Given the description of an element on the screen output the (x, y) to click on. 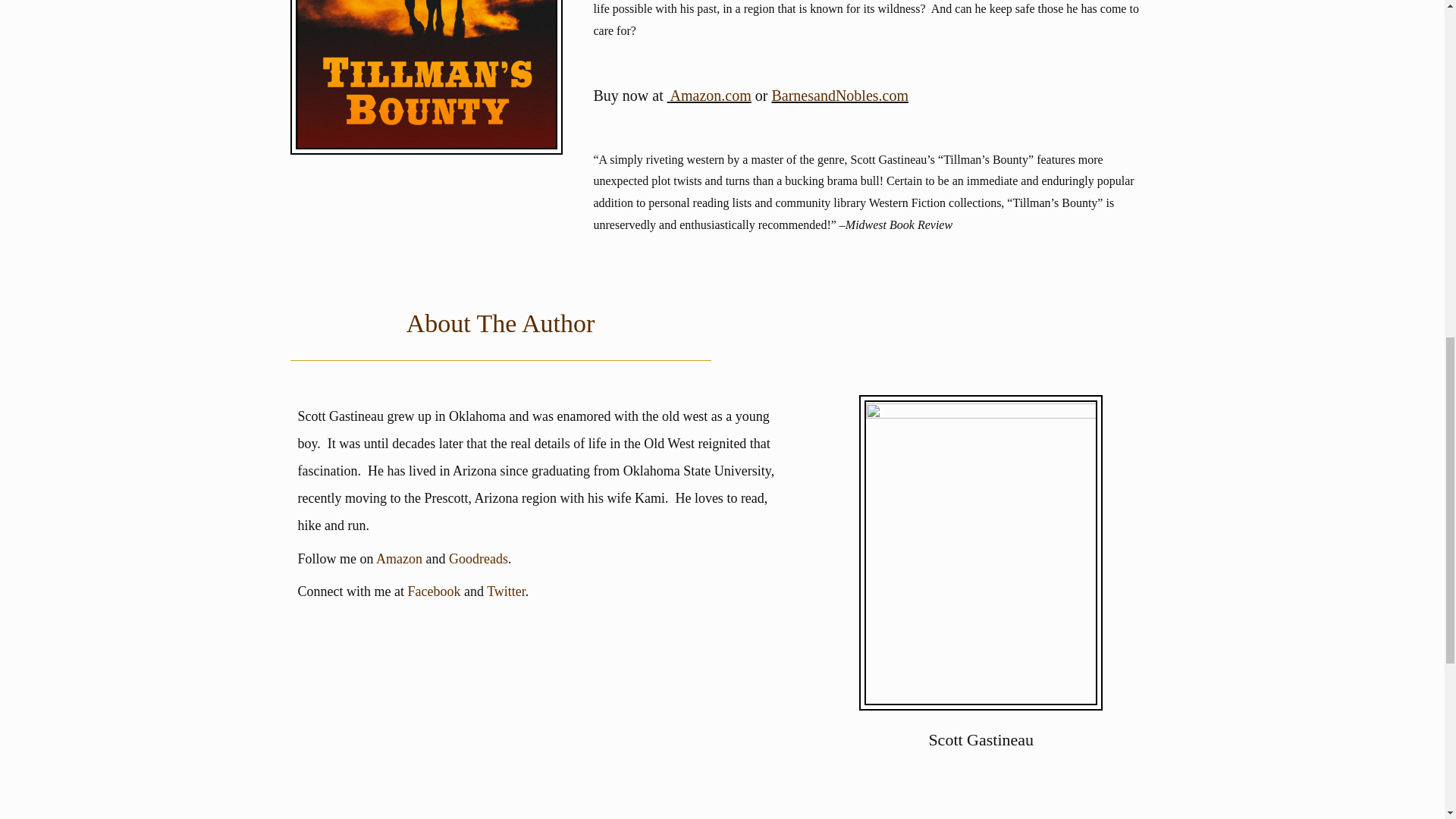
Amazon.com (710, 95)
Amazon (398, 558)
Goodreads (478, 558)
Twitter (505, 590)
Facebook (433, 590)
BarnesandNobles.com (839, 95)
